Given the description of an element on the screen output the (x, y) to click on. 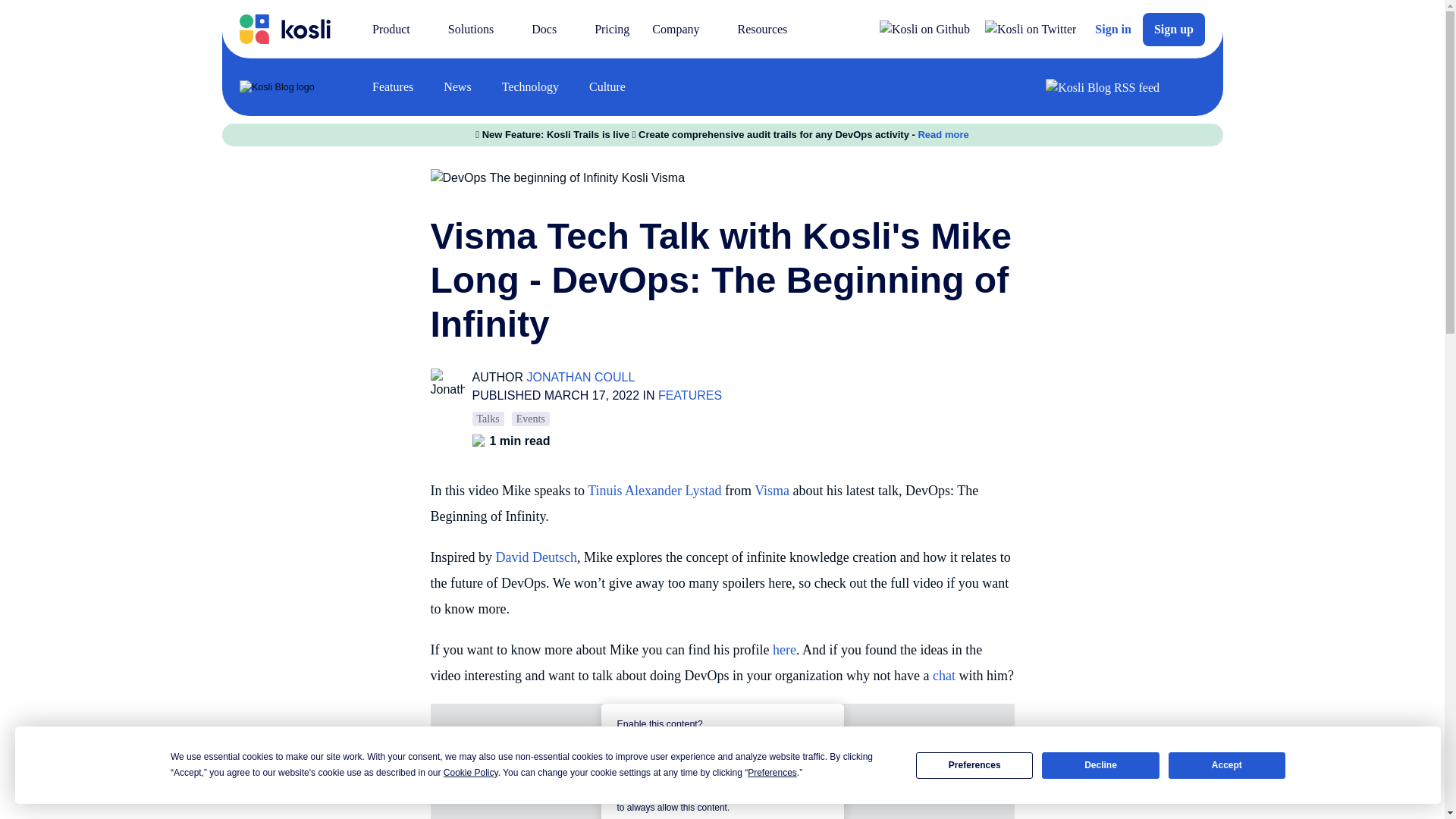
Preferences (973, 765)
Product (398, 29)
Pricing (611, 29)
Company (682, 29)
Decline (1100, 765)
Solutions (477, 29)
Docs (551, 29)
Accept (1227, 765)
